Given the description of an element on the screen output the (x, y) to click on. 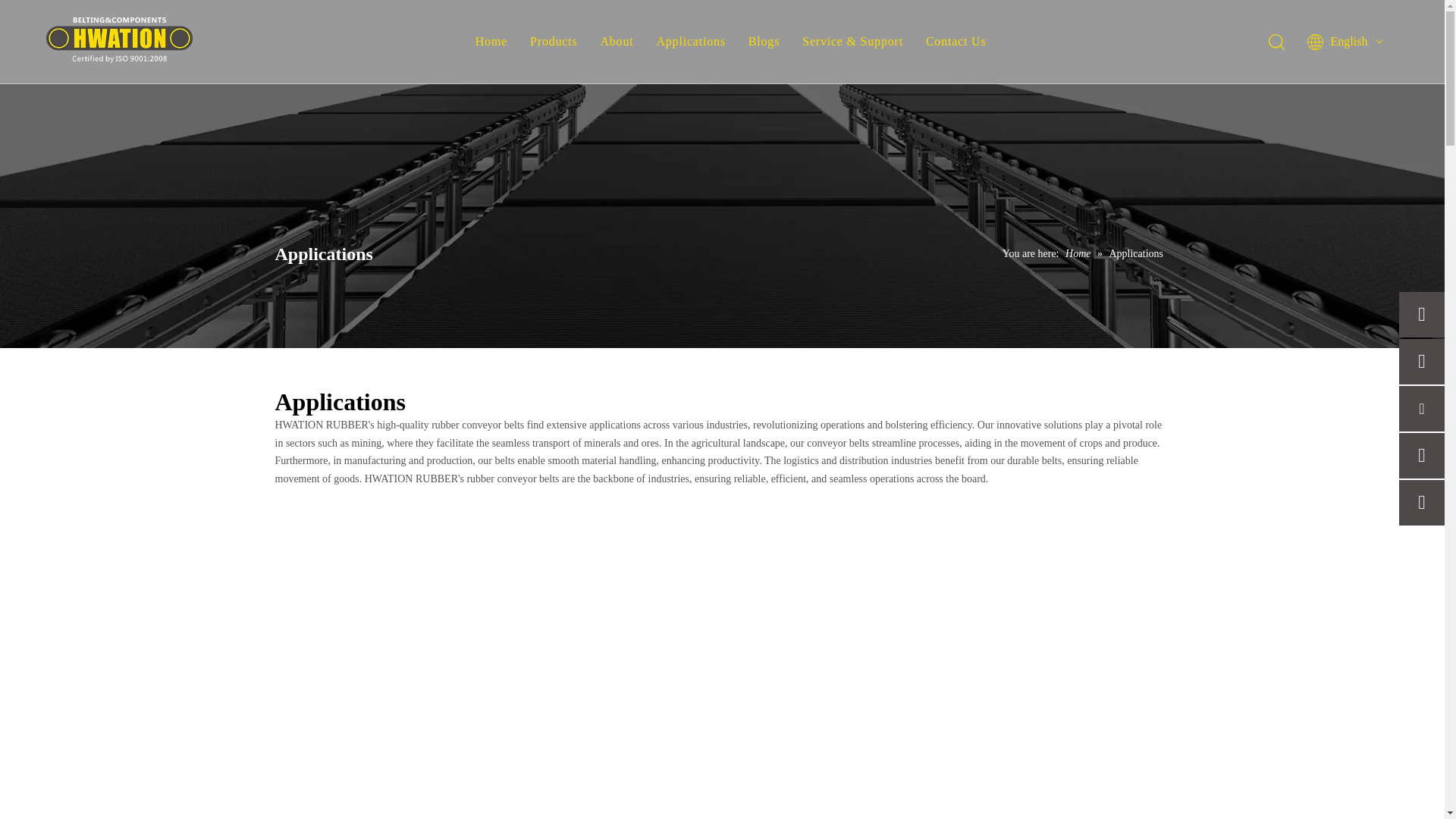
Applications (690, 41)
Contact Us (956, 41)
About (616, 41)
Blogs (763, 41)
Home (1079, 253)
Home (491, 41)
Products (552, 41)
